Given the description of an element on the screen output the (x, y) to click on. 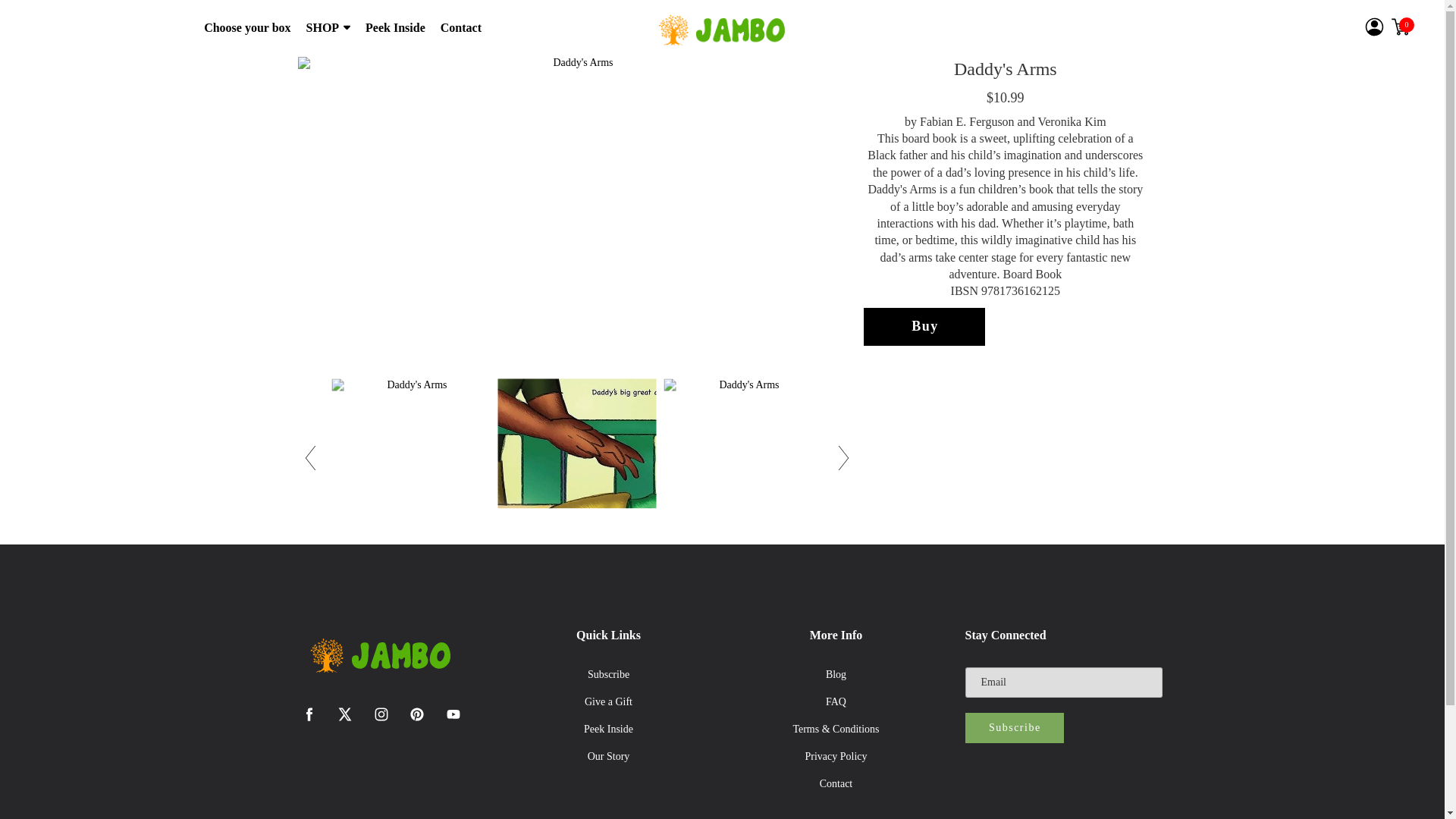
Choose your box (246, 28)
FAQ (835, 702)
0 (1400, 26)
Privacy Policy (835, 756)
Daddy's Arms (742, 457)
Peek Inside (395, 28)
Contact (461, 28)
Daddy's Arms (576, 457)
Buy (924, 326)
Peek Inside (608, 729)
Our Story (608, 756)
Give a Gift (608, 702)
Daddy's Arms (410, 457)
SHOP (327, 28)
Blog (835, 674)
